Given the description of an element on the screen output the (x, y) to click on. 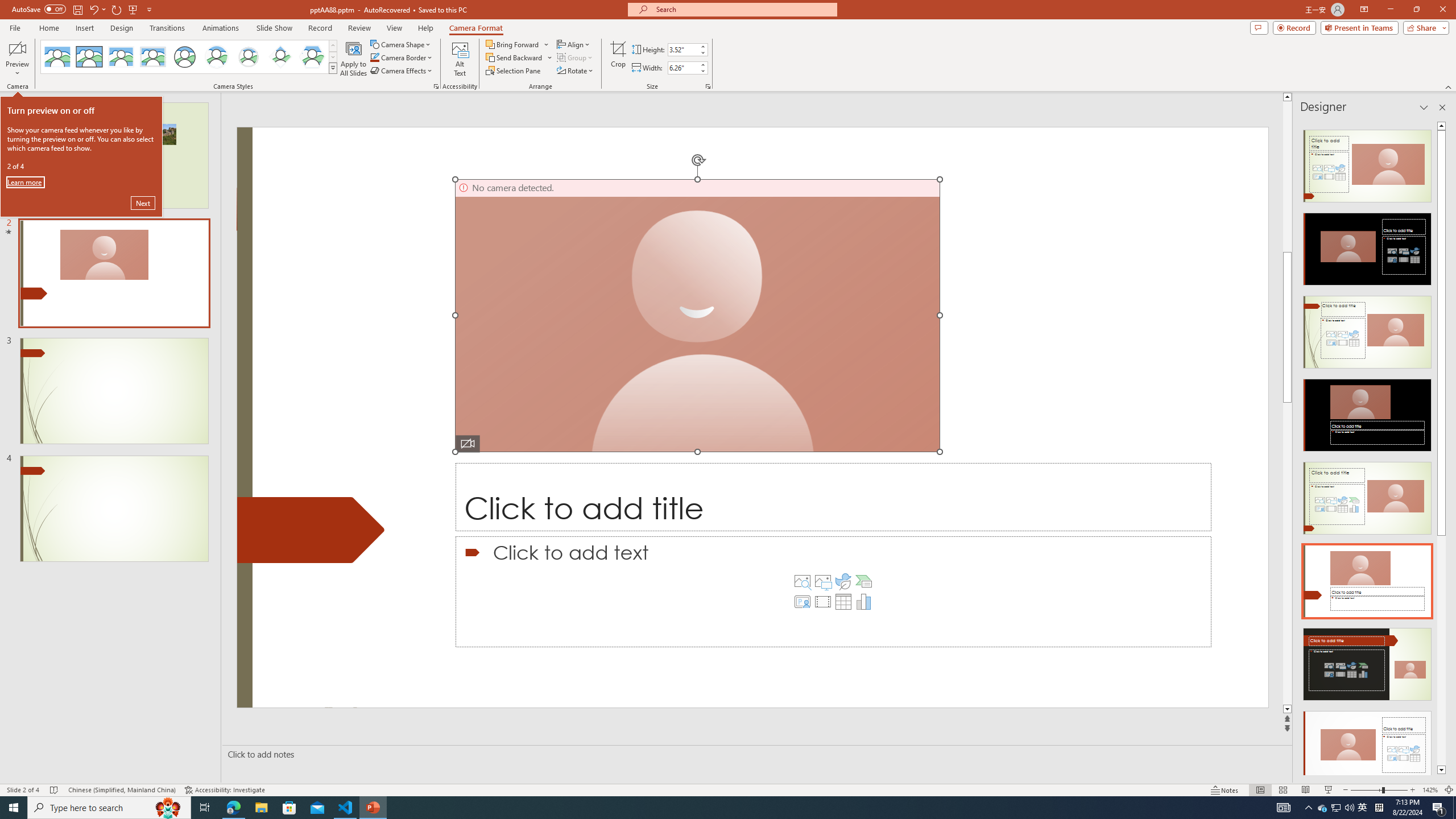
Apply to All Slides (353, 58)
Crop (617, 58)
